Given the description of an element on the screen output the (x, y) to click on. 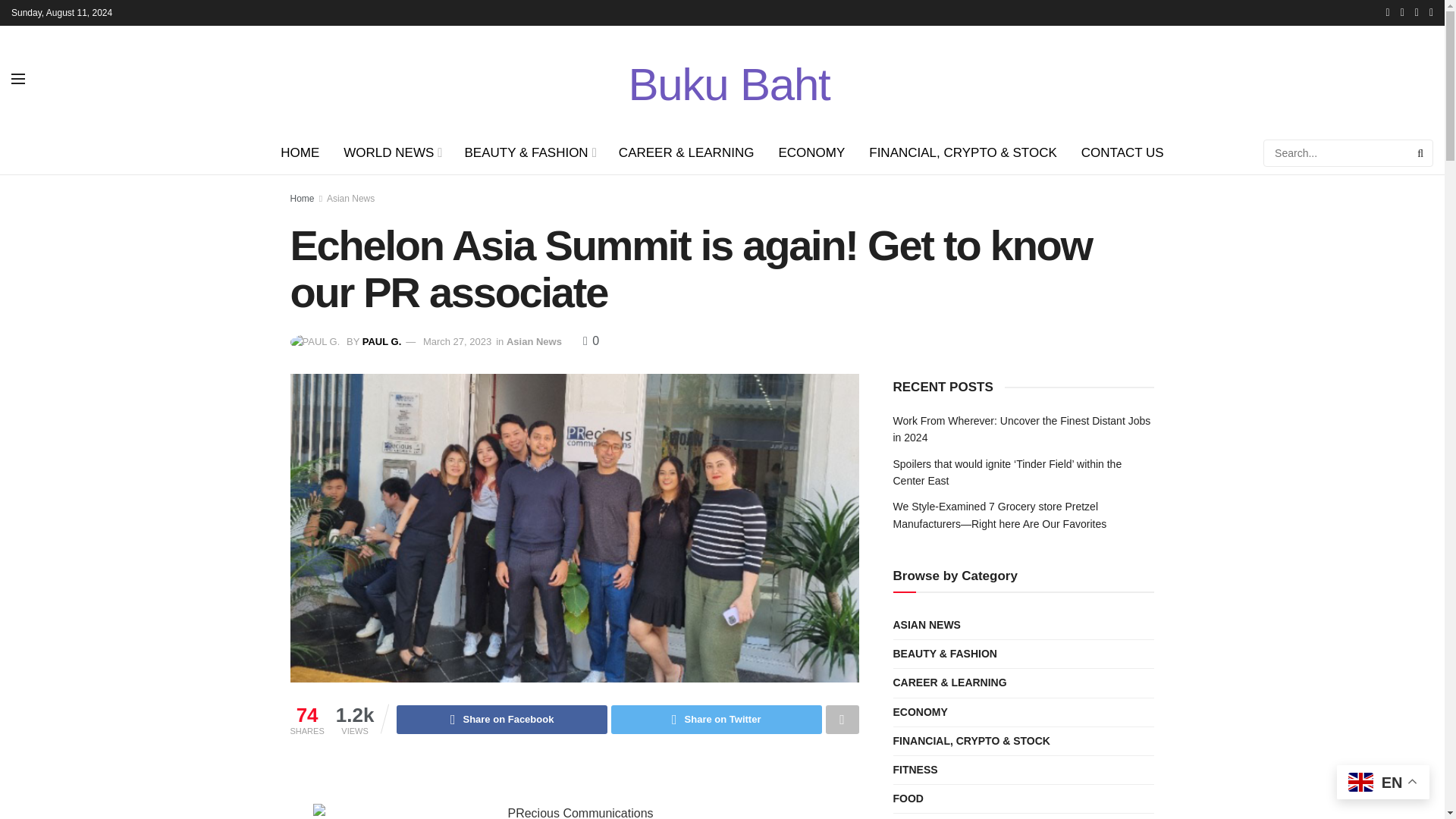
HOME (299, 152)
Asian News (350, 198)
PAUL G. (381, 341)
Home (301, 198)
CONTACT US (1122, 152)
ECONOMY (811, 152)
Buku Baht (728, 78)
WORLD NEWS (391, 152)
